Given the description of an element on the screen output the (x, y) to click on. 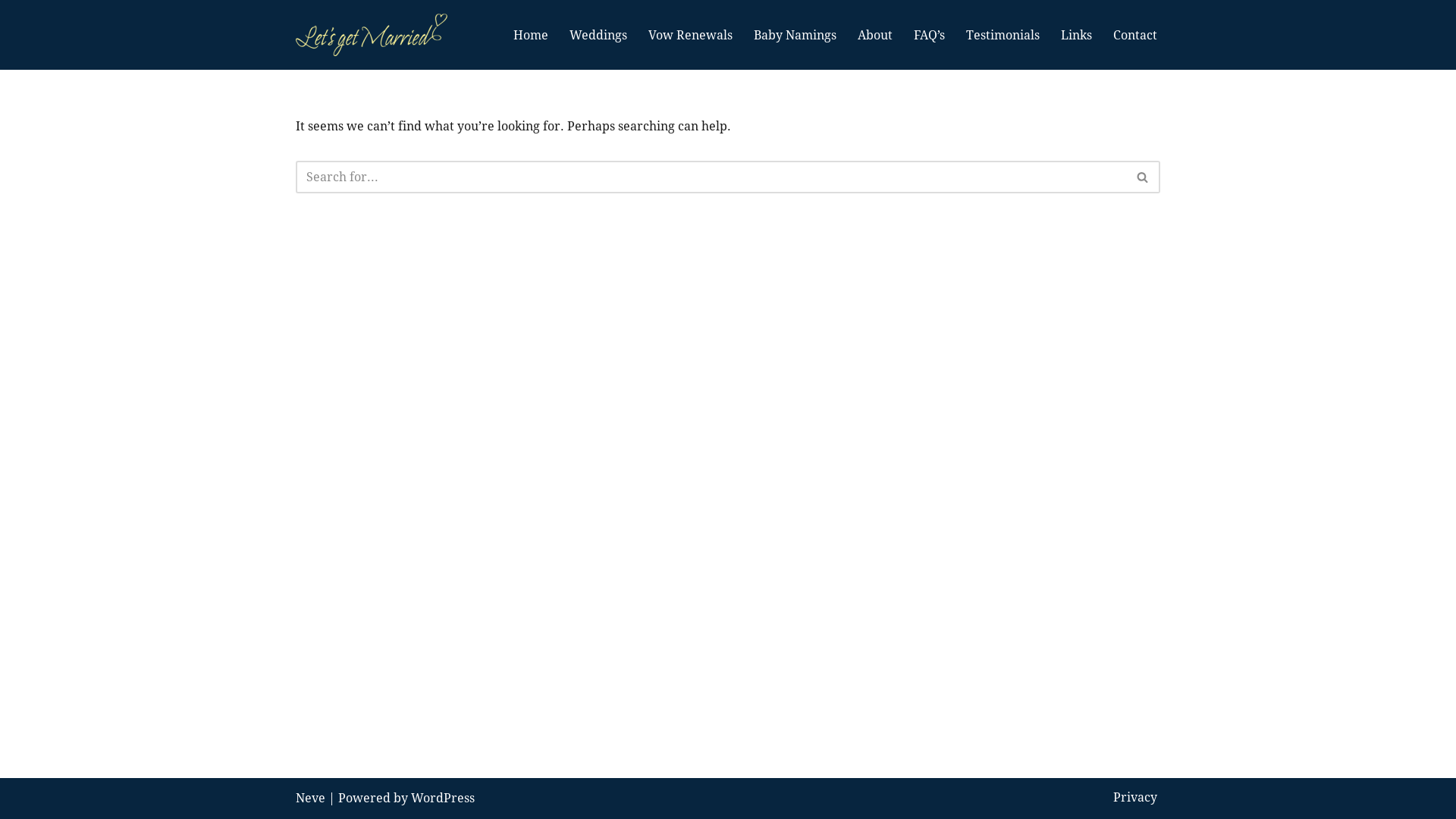
Baby Namings Element type: text (794, 35)
About Element type: text (874, 35)
Contact Element type: text (1135, 35)
Skip to content Element type: text (11, 31)
Home Element type: text (530, 35)
Weddings Element type: text (598, 35)
Privacy Element type: text (1135, 797)
WordPress Element type: text (442, 797)
Vow Renewals Element type: text (690, 35)
Neve Element type: text (310, 797)
Links Element type: text (1076, 35)
Testimonials Element type: text (1002, 35)
